Given the description of an element on the screen output the (x, y) to click on. 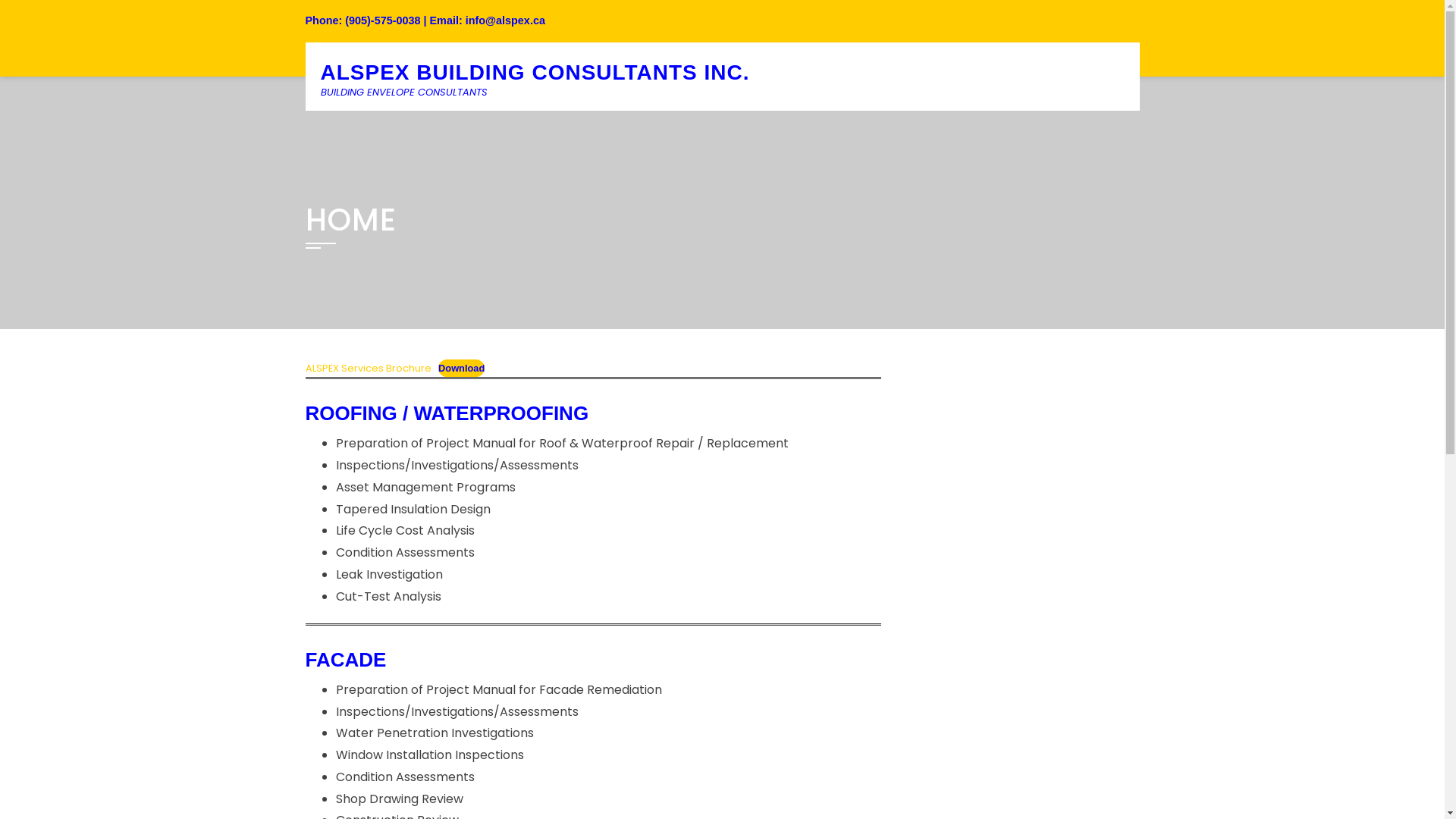
ALSPEX Services Brochure Element type: text (367, 367)
Download Element type: text (461, 367)
ALSPEX BUILDING CONSULTANTS INC. Element type: text (534, 72)
